Given the description of an element on the screen output the (x, y) to click on. 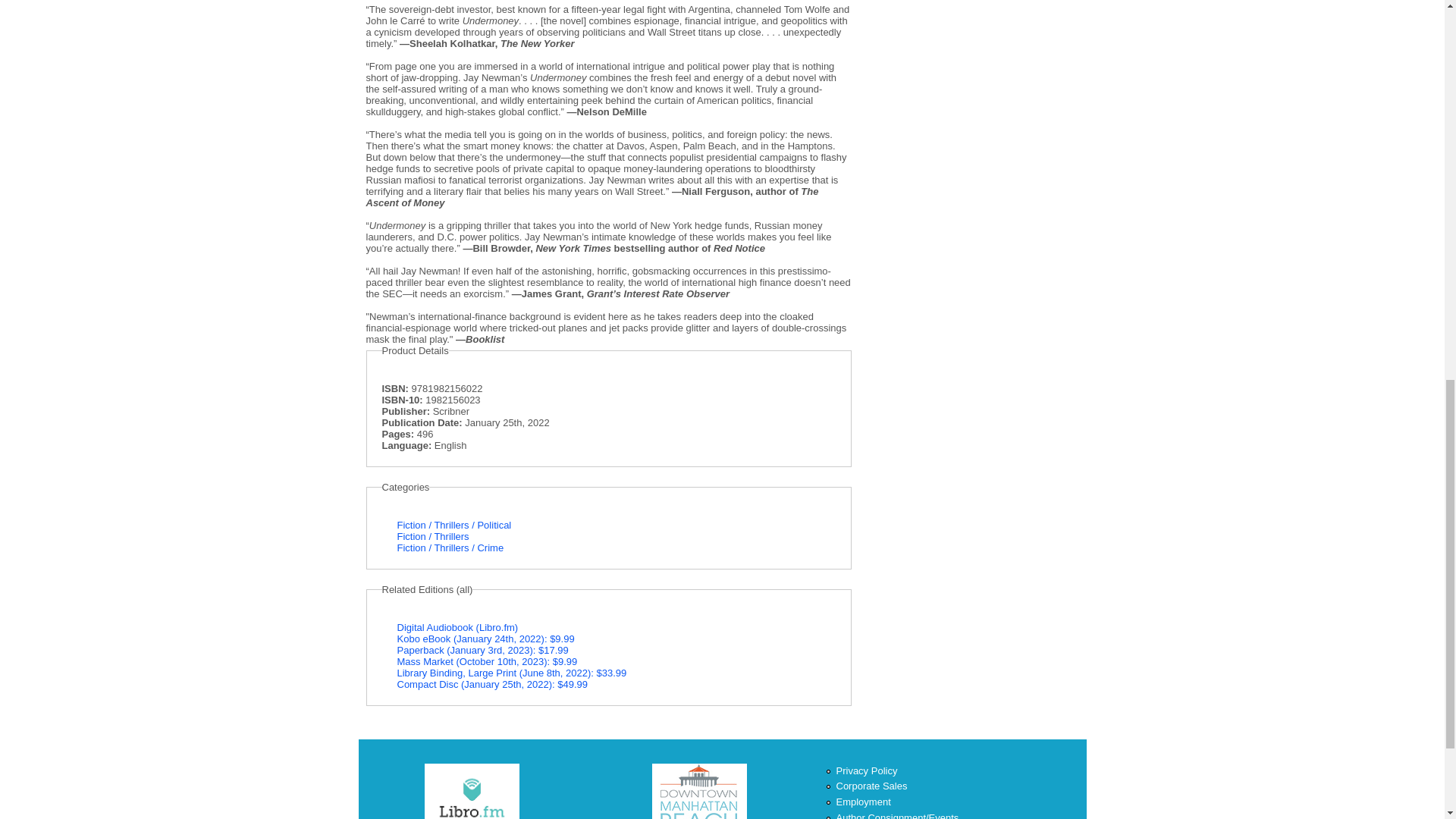
Corporate Sales (871, 785)
Privacy Policy (865, 770)
